Given the description of an element on the screen output the (x, y) to click on. 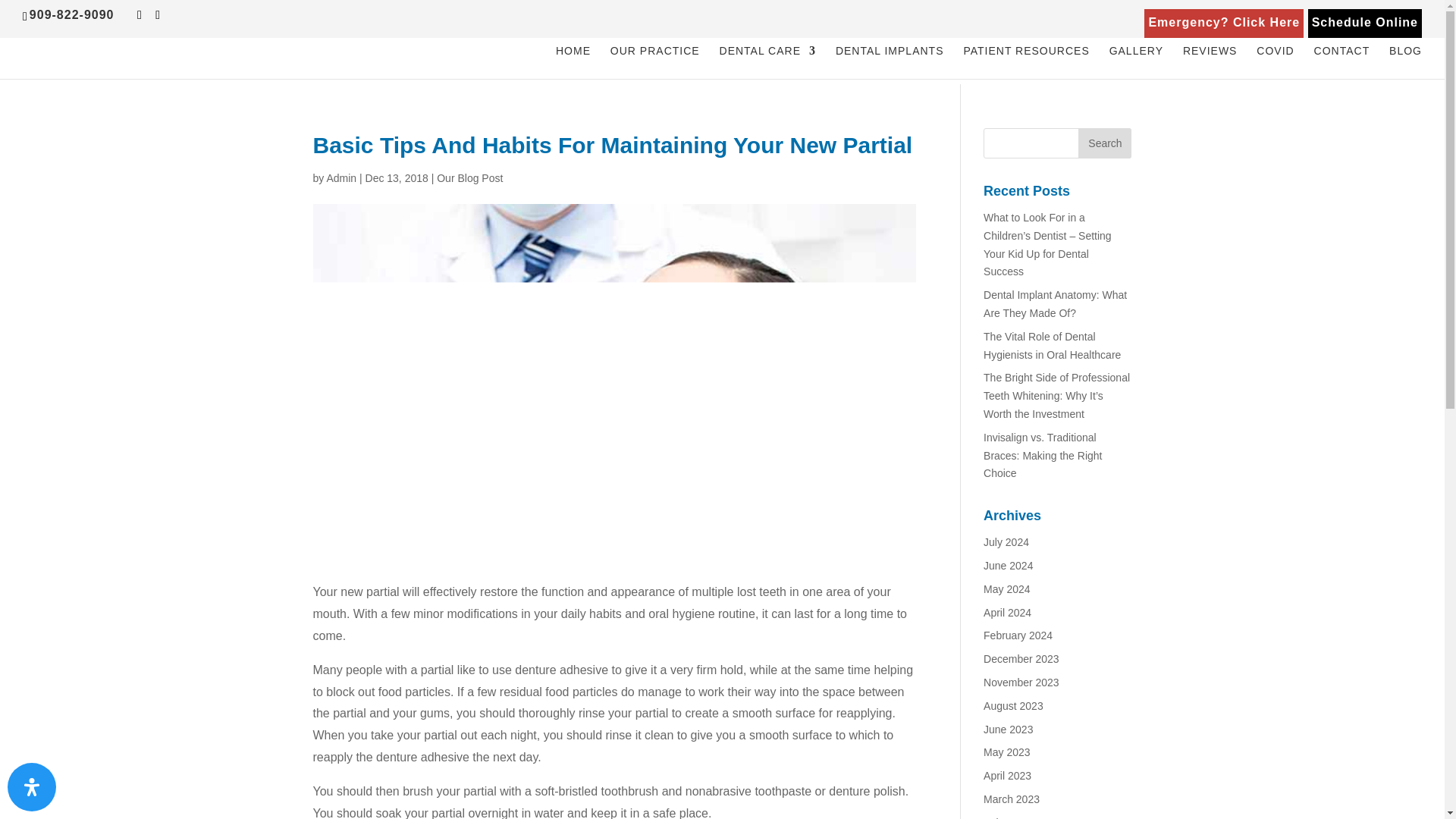
Admin (341, 177)
OUR PRACTICE (655, 61)
CONTACT (1342, 61)
REVIEWS (1209, 61)
BLOG (1405, 61)
DENTAL IMPLANTS (889, 61)
HOME (573, 61)
909-822-9090 (75, 14)
COVID (1275, 61)
DENTAL CARE (767, 61)
